Given the description of an element on the screen output the (x, y) to click on. 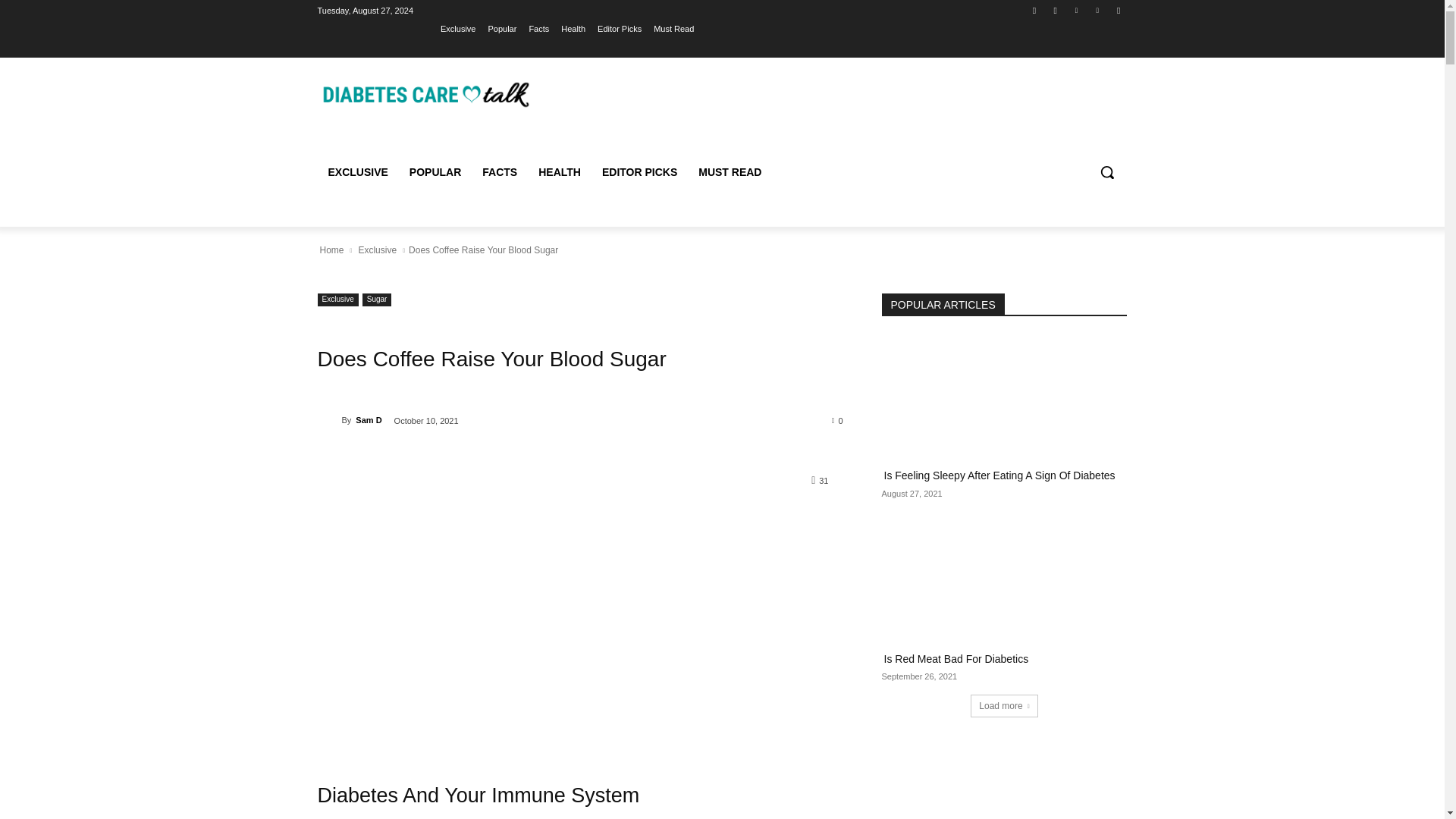
FACTS (499, 171)
Popular (501, 28)
Home (331, 250)
Twitter (1075, 9)
Exclusive (337, 299)
EXCLUSIVE (357, 171)
Health (572, 28)
View all posts in Exclusive (376, 250)
Sam D (328, 419)
EDITOR PICKS (639, 171)
